Given the description of an element on the screen output the (x, y) to click on. 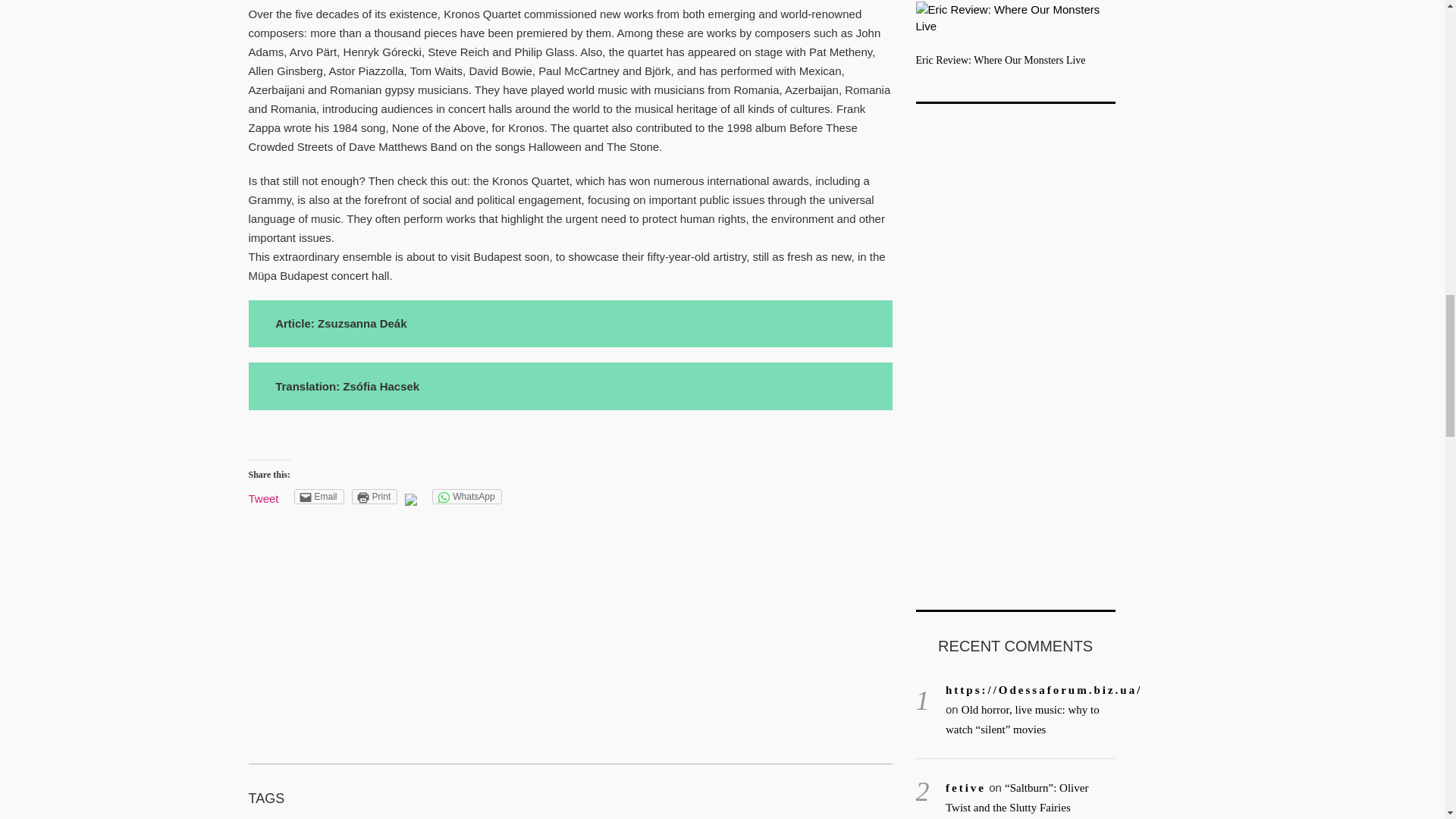
Click to print (374, 496)
Click to share on WhatsApp (466, 496)
Click to email this to a friend (318, 496)
